Given the description of an element on the screen output the (x, y) to click on. 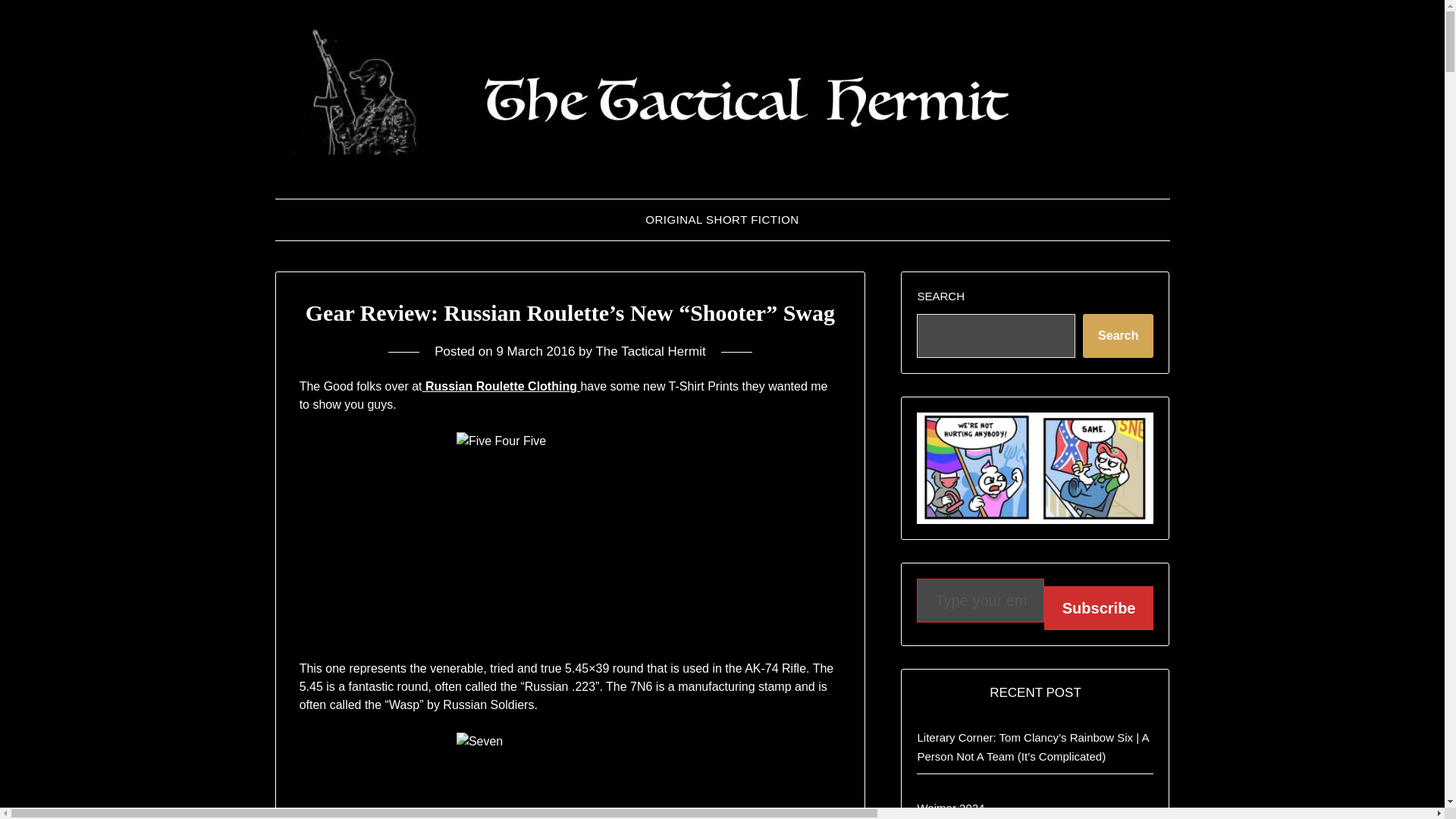
ORIGINAL SHORT FICTION (721, 219)
Subscribe (1098, 607)
9 March 2016 (535, 350)
Search (1118, 335)
The Tactical Hermit (649, 350)
Weimar 2024 (950, 807)
Russian Roulette Clothing (500, 386)
